Given the description of an element on the screen output the (x, y) to click on. 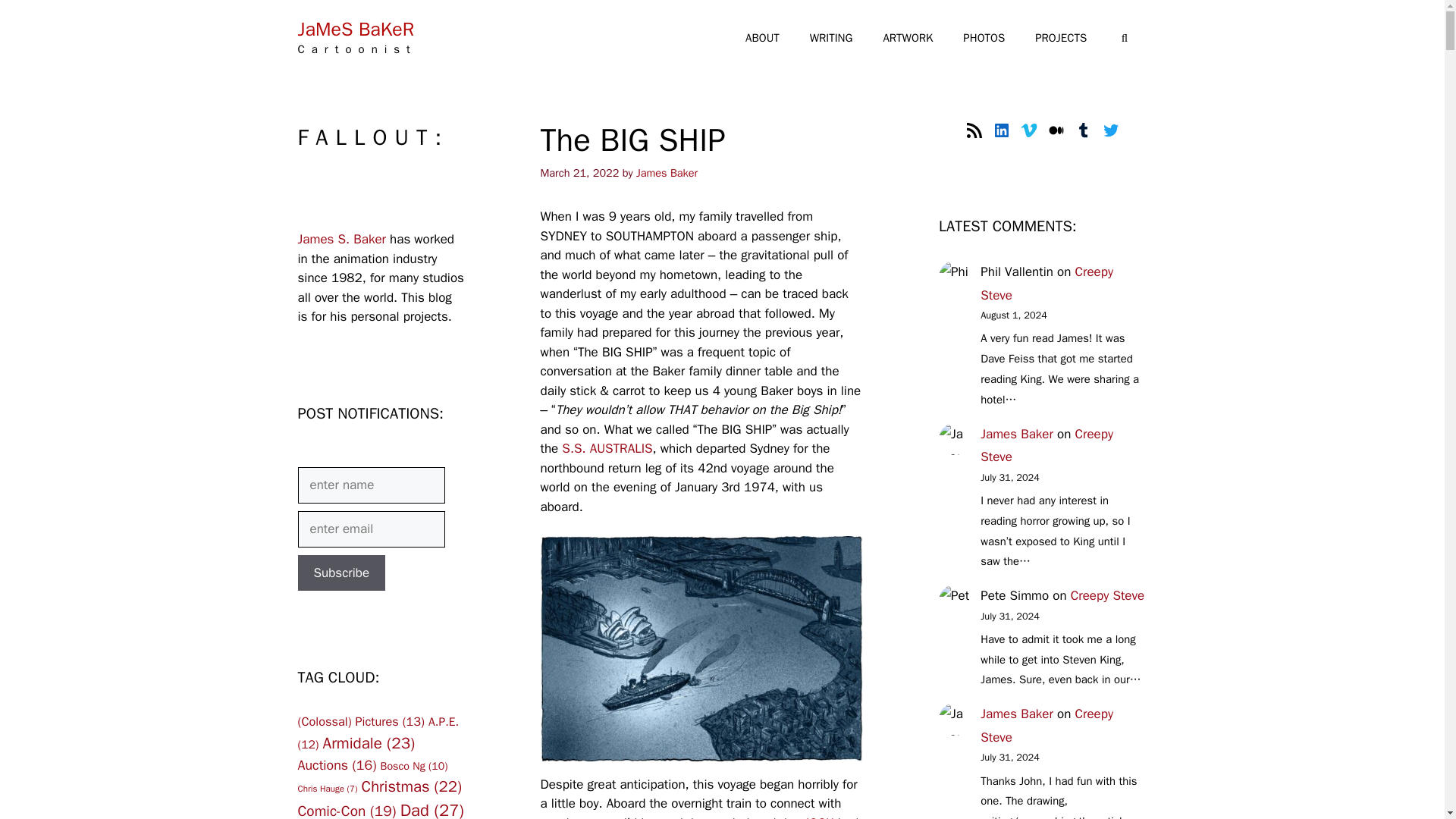
View all posts by James Baker (666, 172)
Subscribe (341, 573)
JOCK (819, 816)
ABOUT (762, 37)
PROJECTS (1061, 37)
ARTWORK (907, 37)
JaMeS BaKeR (355, 28)
S.S. AUSTRALIS (607, 448)
WRITING (830, 37)
SS AUSTRALIS (607, 448)
PHOTOS (983, 37)
James Baker (666, 172)
